Given the description of an element on the screen output the (x, y) to click on. 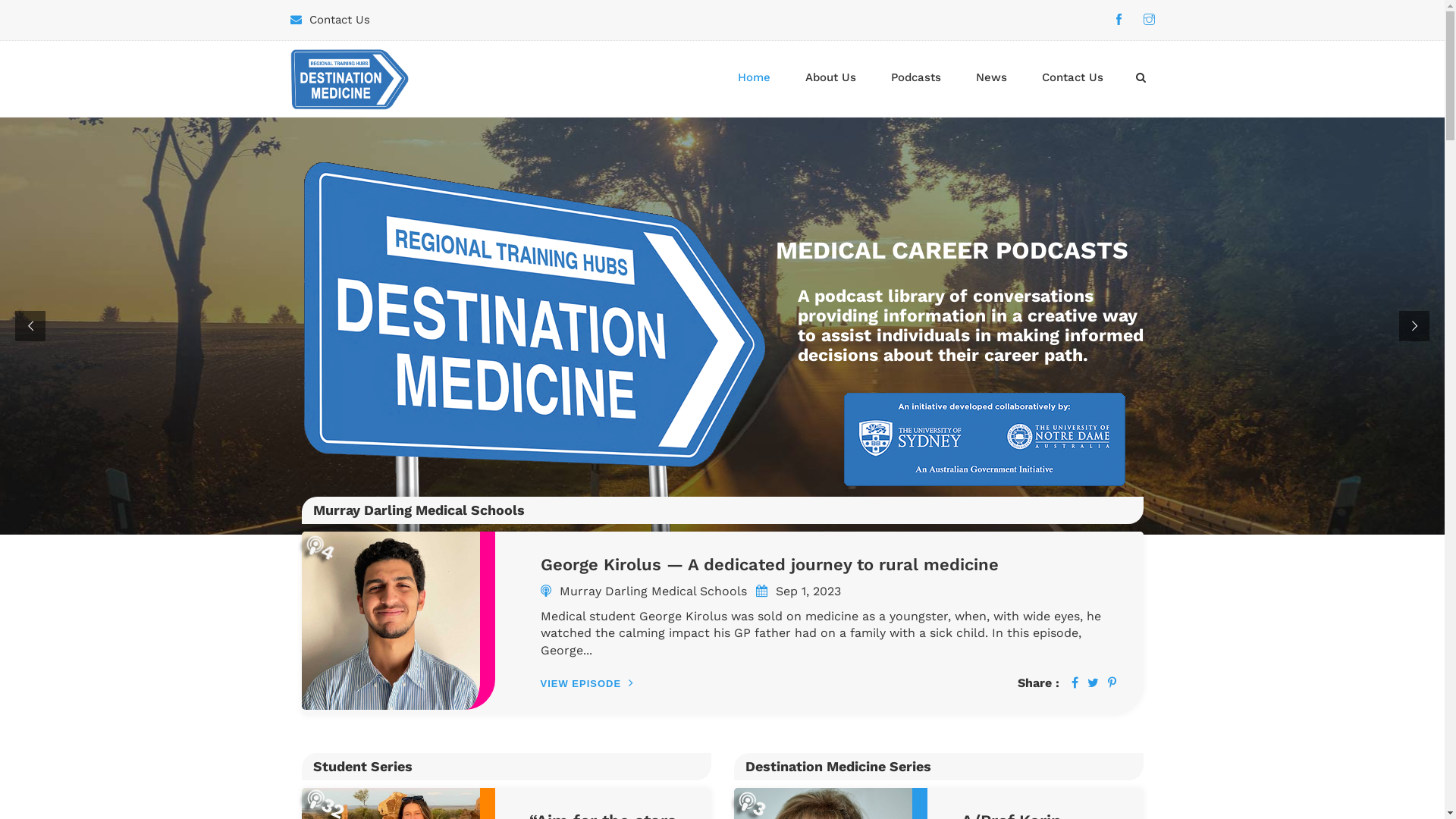
VIEW EPISODE Element type: text (586, 683)
News Element type: text (991, 76)
Home Element type: text (754, 76)
Contact Us Element type: text (1071, 76)
Podcasts Element type: text (915, 76)
Contact Us Element type: text (339, 19)
About Us Element type: text (829, 76)
